Given the description of an element on the screen output the (x, y) to click on. 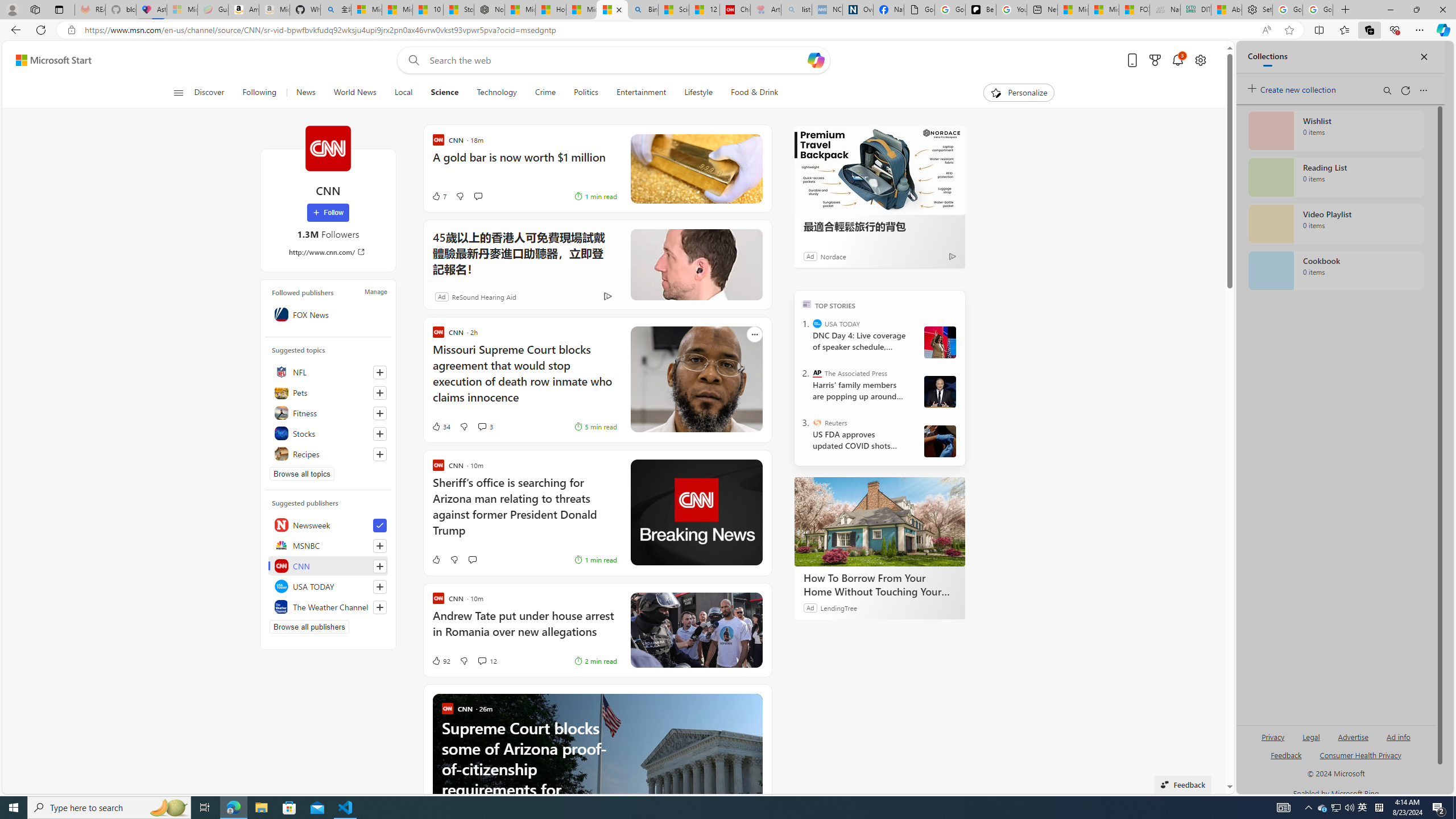
USA TODAY (327, 586)
Reuters (816, 422)
AutomationID: genId96 (1285, 759)
